Given the description of an element on the screen output the (x, y) to click on. 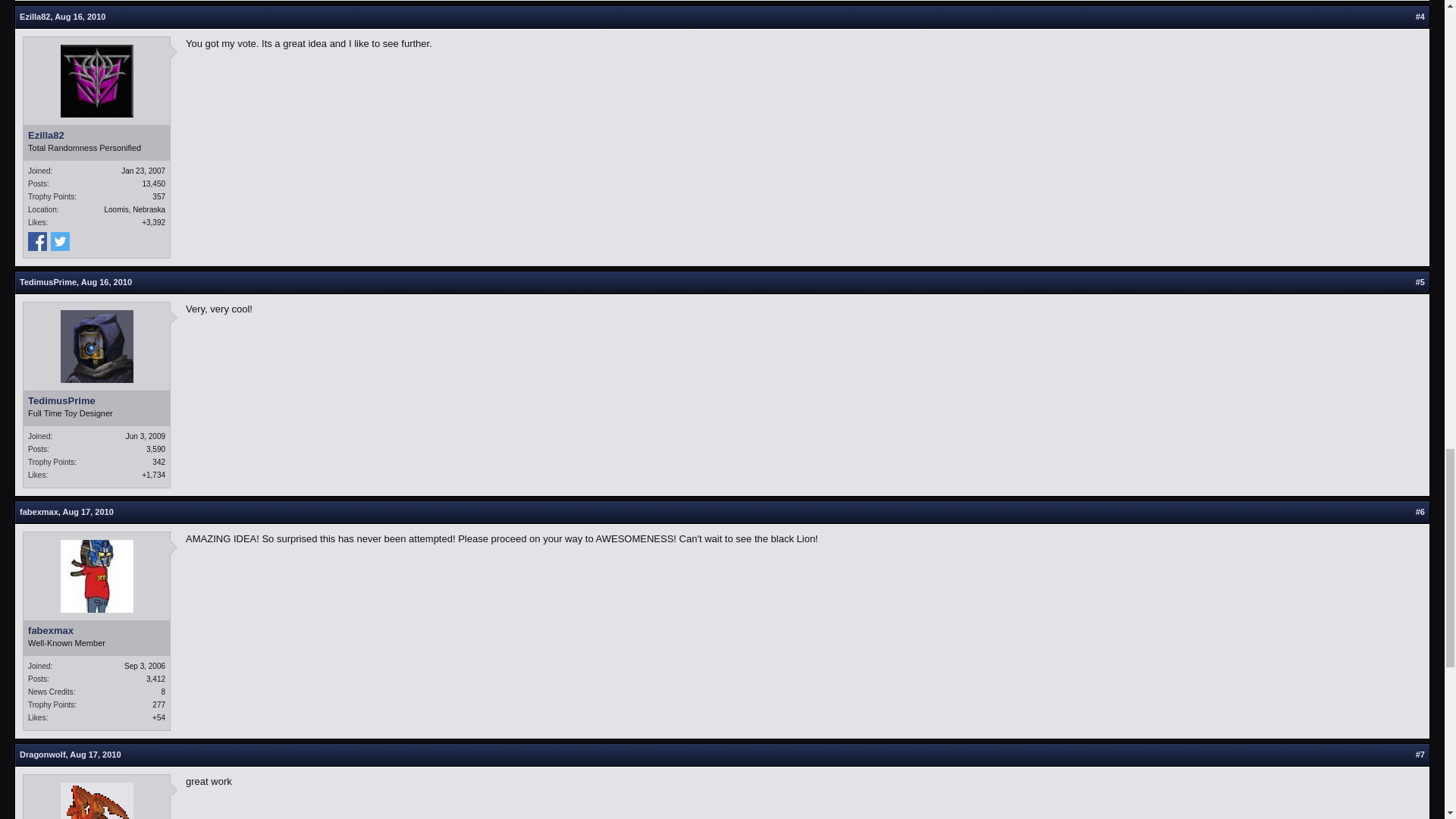
Permalink (106, 281)
Permalink (1420, 16)
Permalink (79, 16)
Permalink (1420, 282)
